Given the description of an element on the screen output the (x, y) to click on. 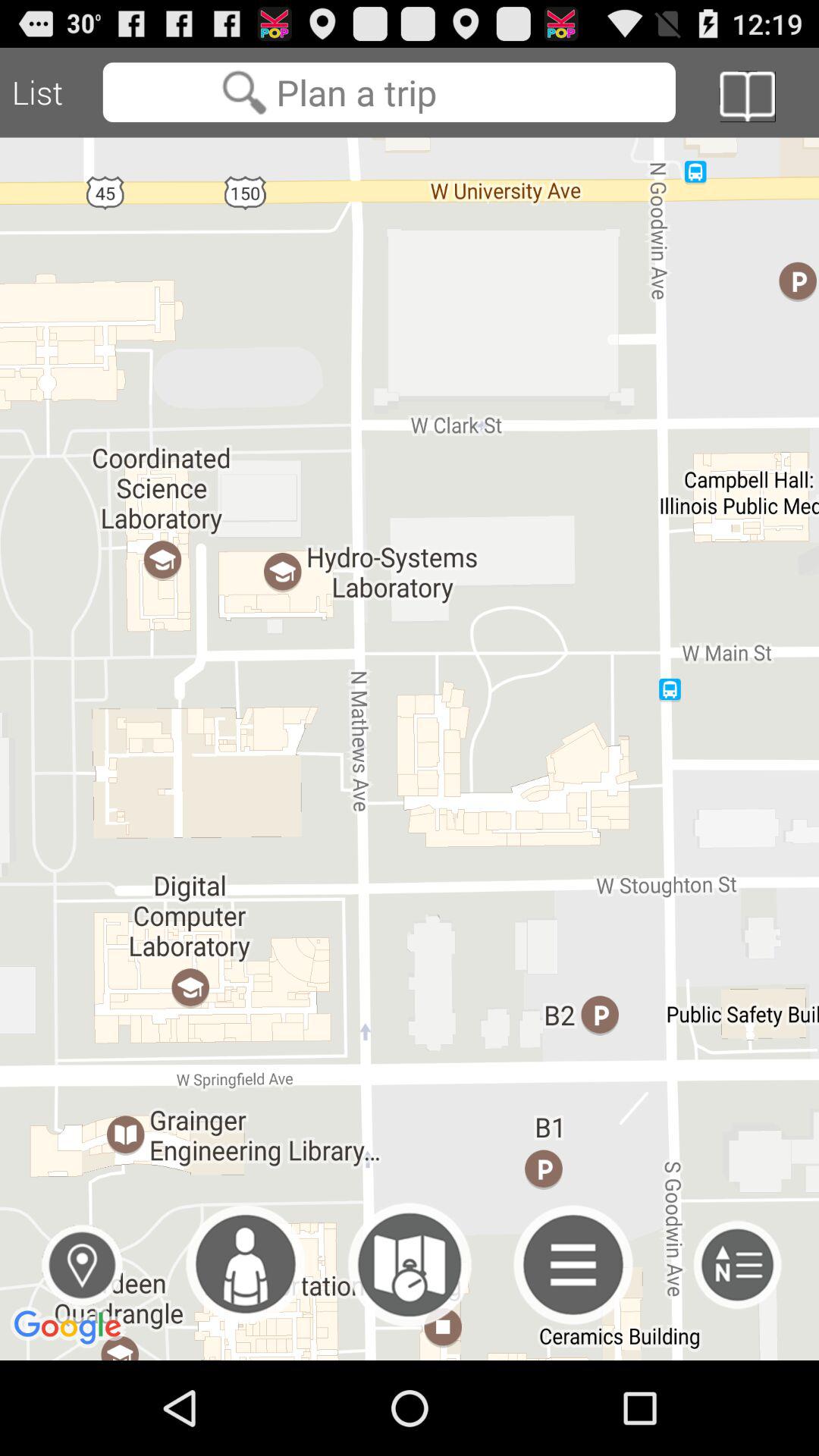
turn on the item below the list (81, 1264)
